Given the description of an element on the screen output the (x, y) to click on. 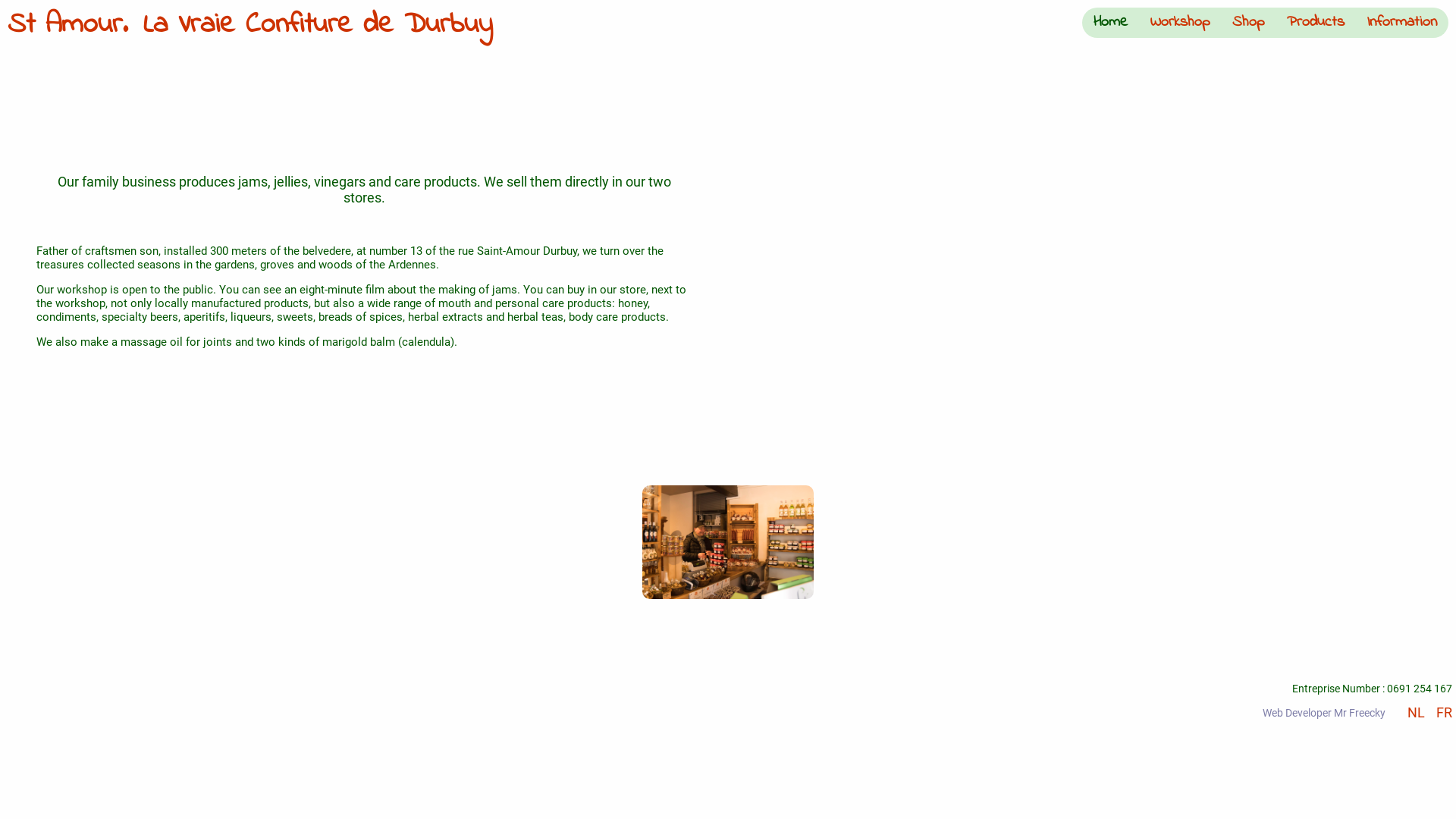
Products Element type: text (1315, 22)
Workshop Element type: text (1179, 22)
Web Developer Mr Freecky Element type: text (1323, 712)
Shop Element type: text (1248, 22)
St Amour. La Vraie Confiture de Durbuy Element type: text (250, 27)
Information Element type: text (1402, 22)
NL Element type: text (1413, 712)
